Given the description of an element on the screen output the (x, y) to click on. 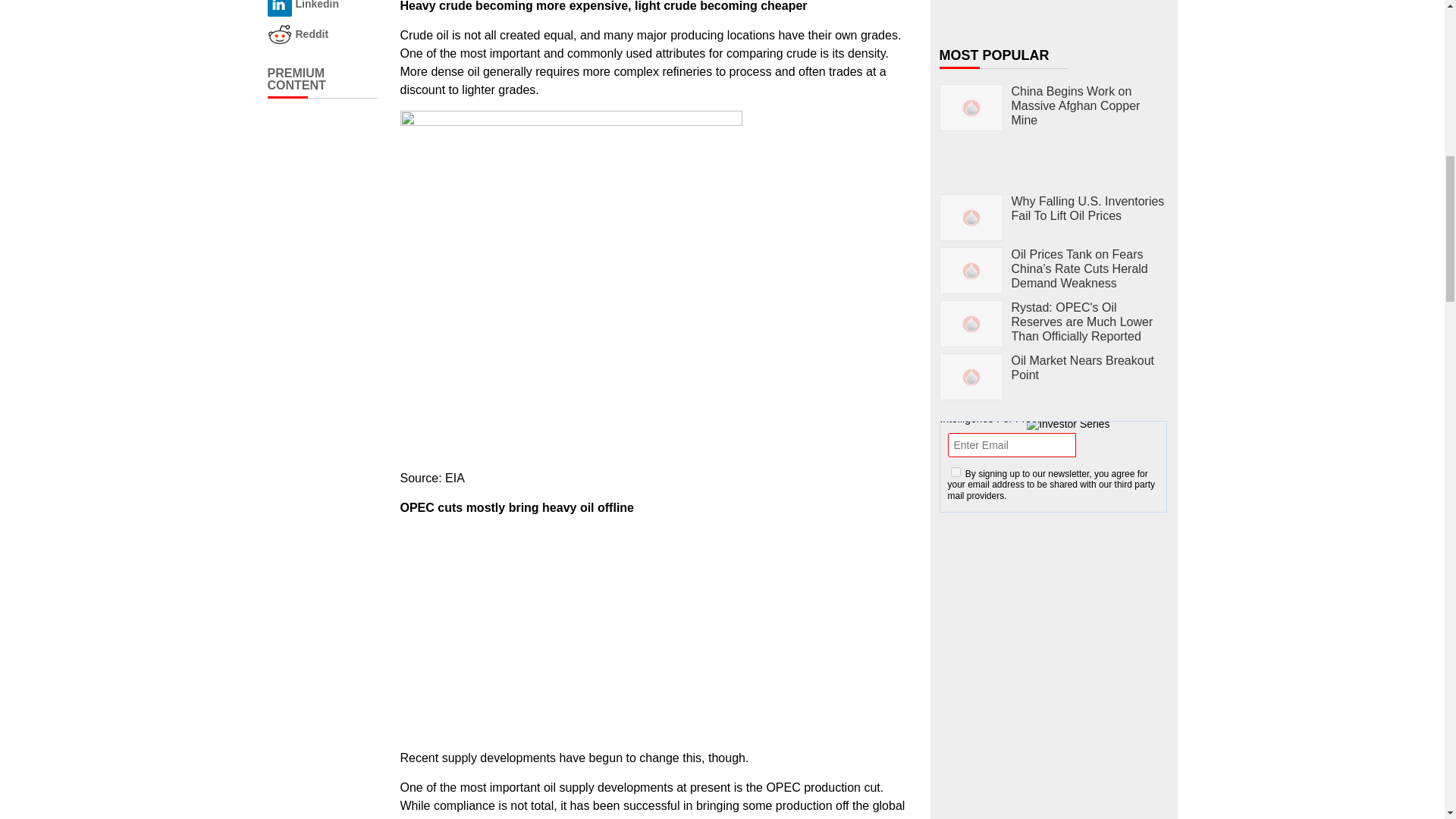
1 (955, 471)
